Given the description of an element on the screen output the (x, y) to click on. 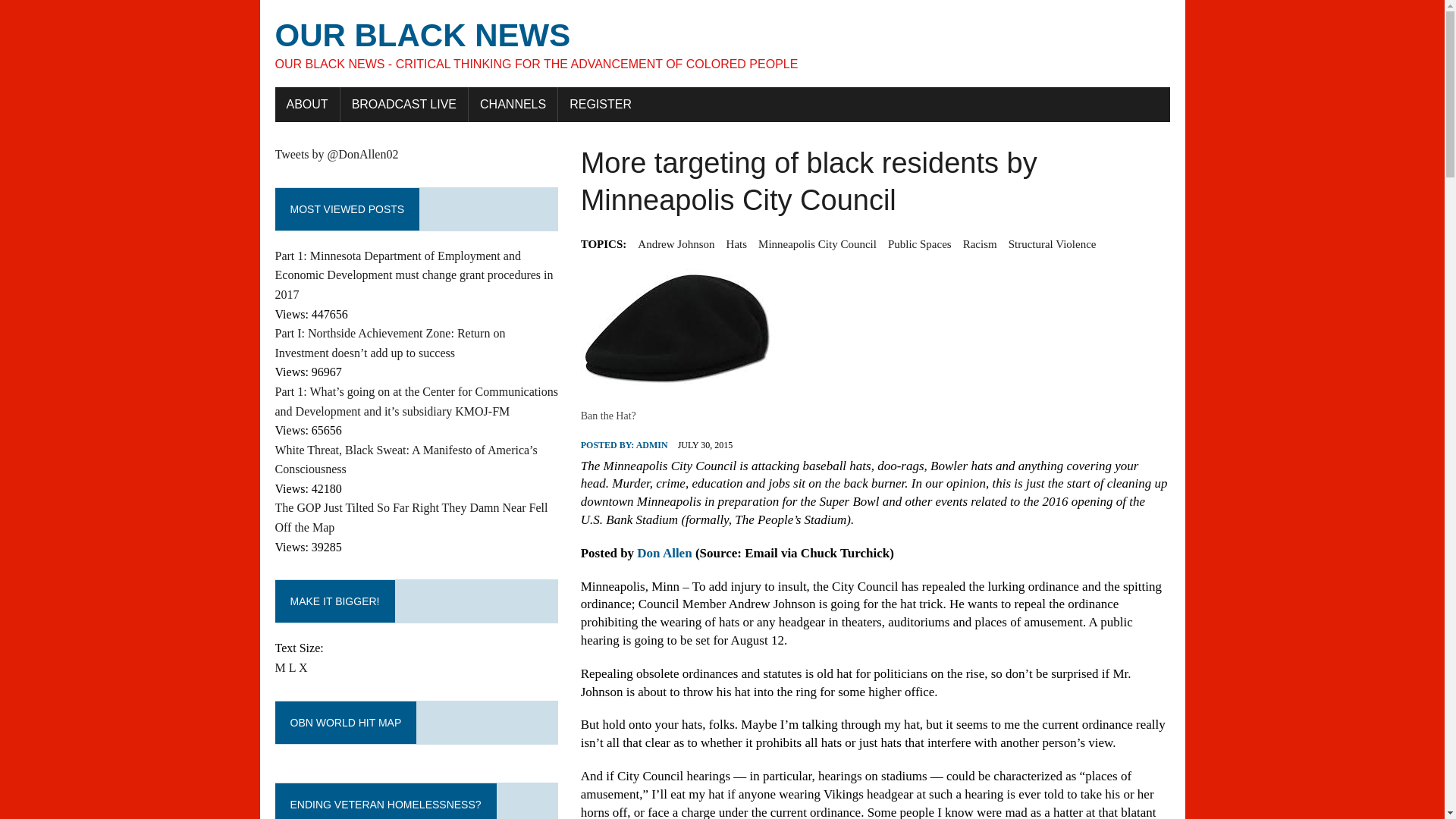
Don Allen (664, 553)
CHANNELS (512, 104)
Minneapolis City Council (817, 244)
Search (75, 14)
Hats (737, 244)
Structural Violence (1052, 244)
Public Spaces (920, 244)
